Given the description of an element on the screen output the (x, y) to click on. 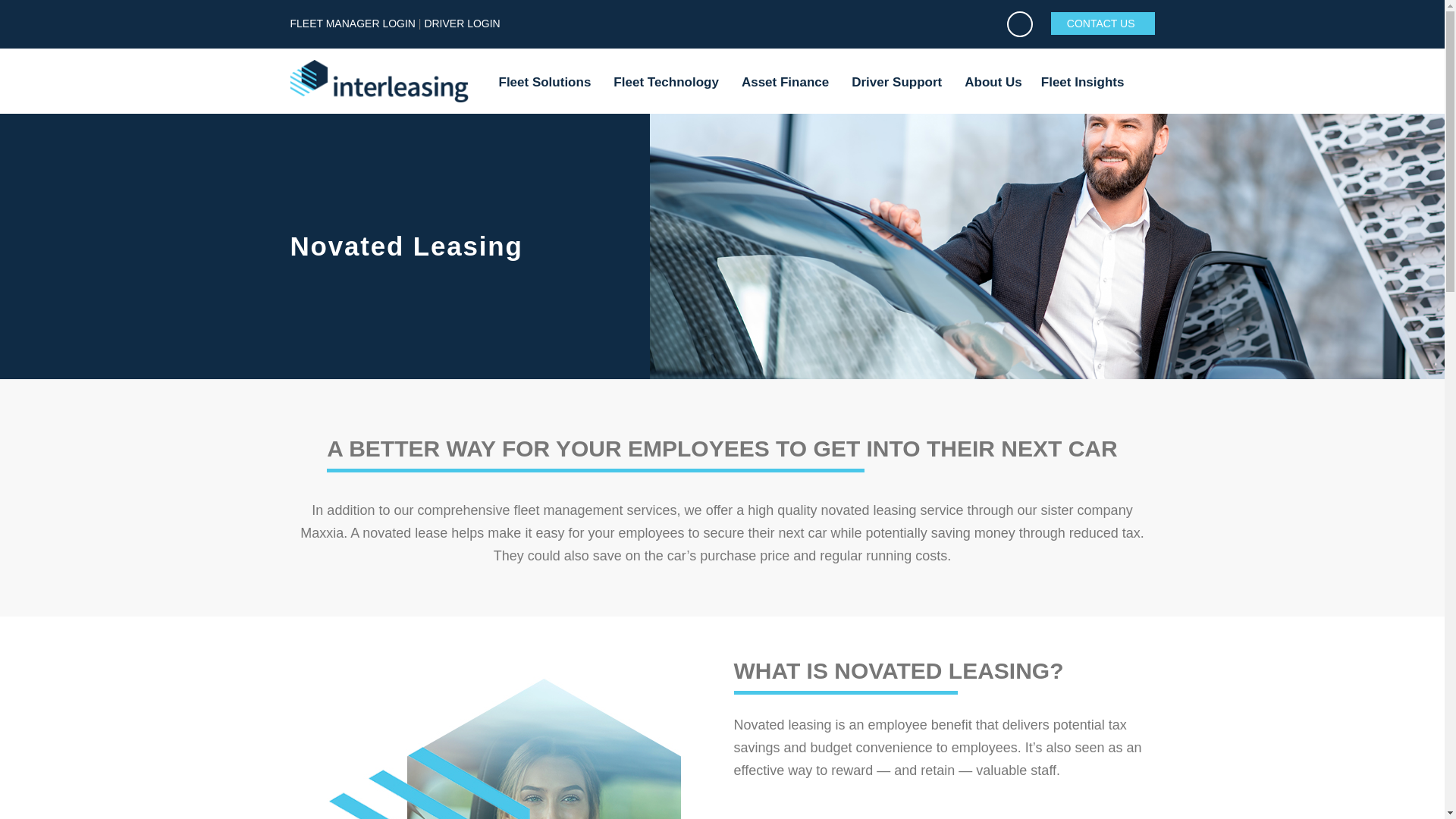
Fleet Insights (1084, 82)
CONTACT US (1102, 23)
Driver Support (897, 82)
About Us (992, 82)
FLEET MANAGER LOGIN (351, 23)
Asset Finance (786, 82)
Home (379, 80)
DRIVER LOGIN (461, 23)
Fleet Technology (667, 82)
